Given the description of an element on the screen output the (x, y) to click on. 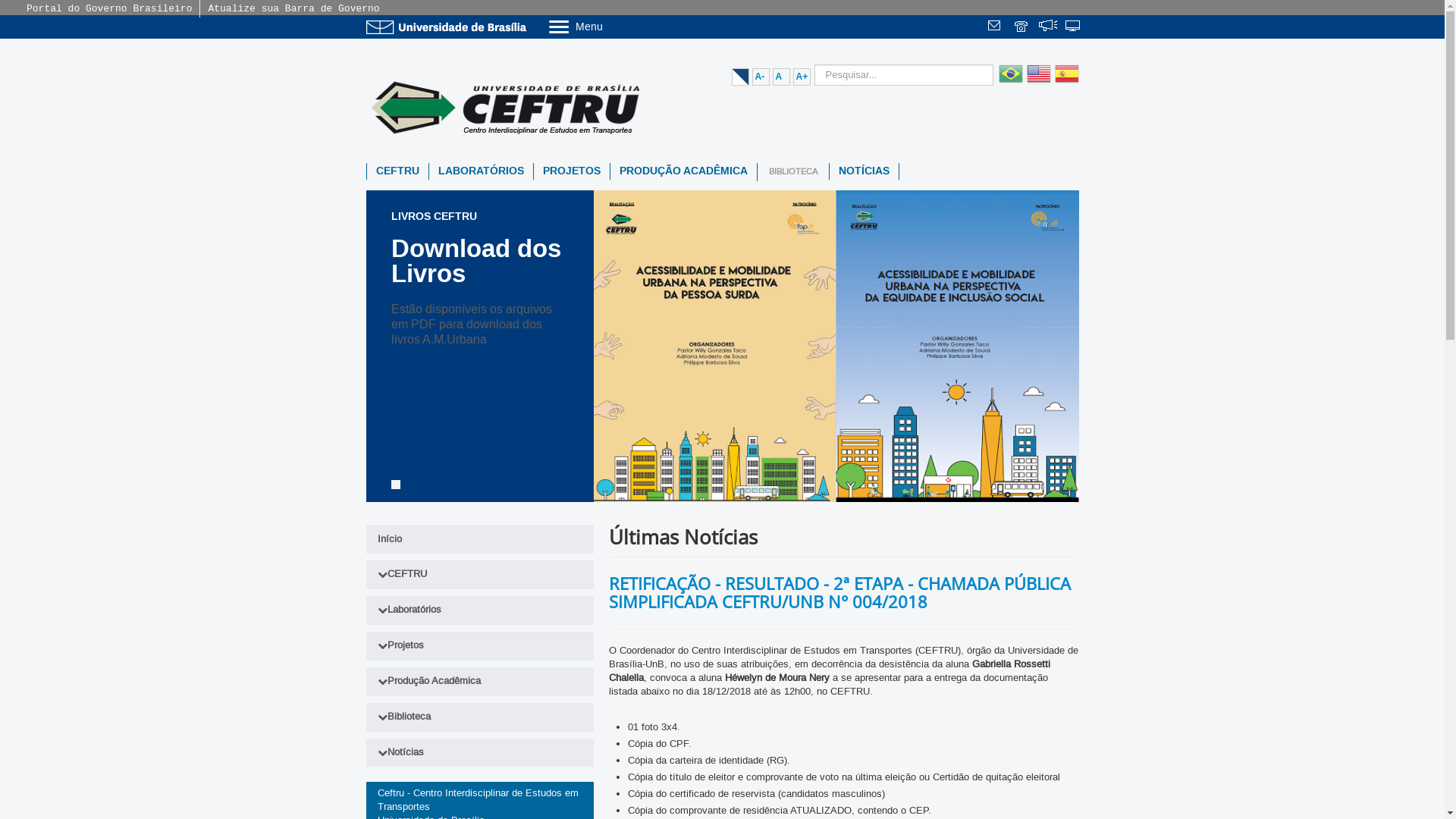
Ir para o Portal da UnB Element type: hover (448, 26)
Atualize sua Barra de Governo Element type: text (293, 8)
CEFTRU Element type: text (479, 574)
Sistemas Element type: hover (1073, 27)
A+ Element type: text (801, 76)
Spanish Element type: hover (1065, 82)
  Element type: text (1073, 27)
A Element type: text (780, 76)
Projetos Element type: text (479, 645)
  Element type: text (1047, 27)
Fala.BR Element type: hover (1047, 27)
Webmail Element type: hover (996, 27)
A- Element type: text (760, 76)
  Element type: text (996, 27)
PROJETOS Element type: text (571, 171)
Portal do Governo Brasileiro Element type: text (108, 8)
CEFTRU Element type: text (397, 171)
Menu Element type: text (613, 25)
Portuguese Element type: hover (1008, 82)
Biblioteca Element type: text (479, 716)
English Element type: hover (1036, 82)
Telefones da UnB Element type: hover (1022, 27)
Download dos Livros Element type: text (476, 260)
  Element type: text (1022, 27)
